Given the description of an element on the screen output the (x, y) to click on. 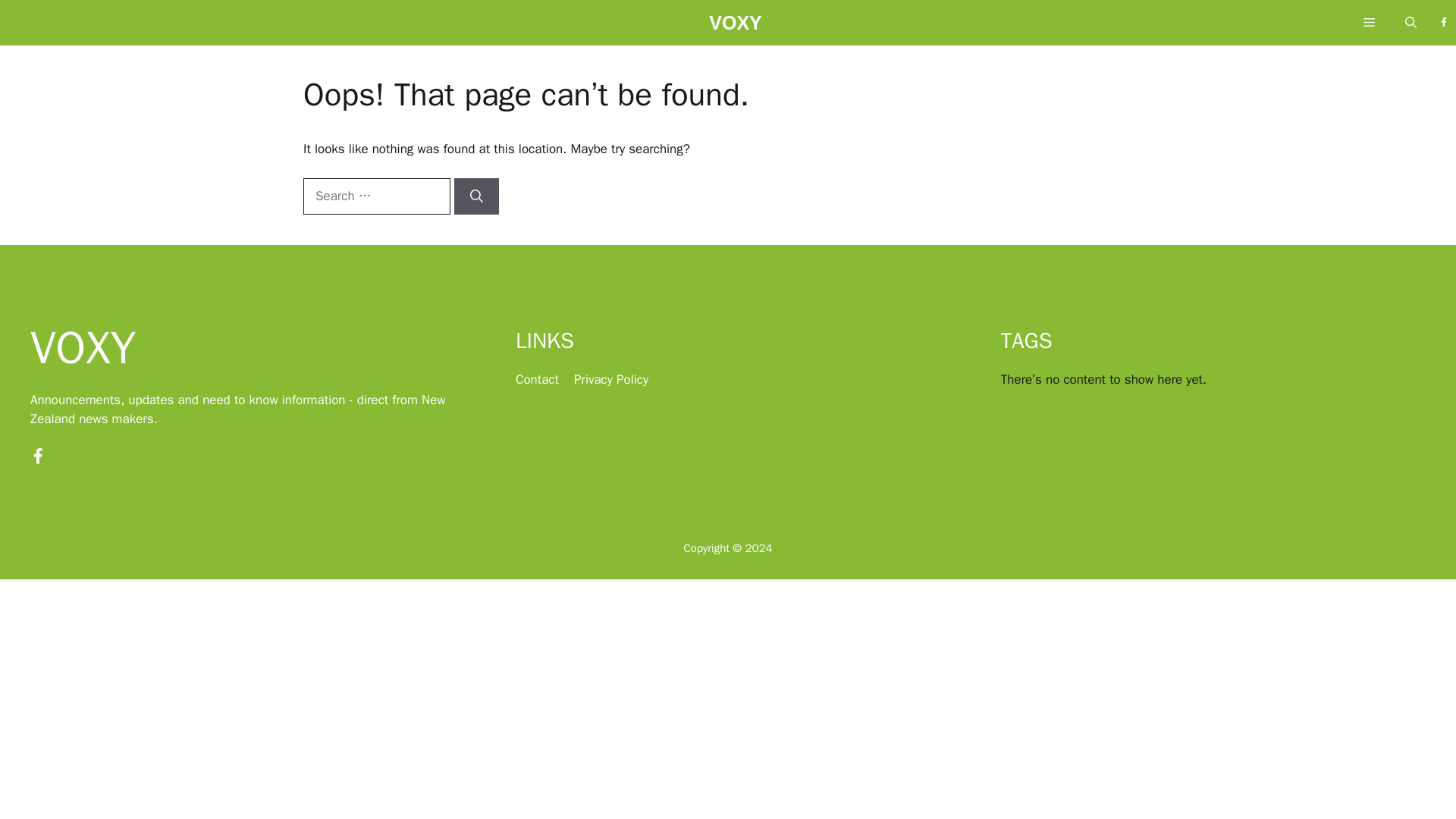
VOXY (735, 26)
Search for: (375, 196)
Contact (537, 379)
Privacy Policy (610, 379)
